Given the description of an element on the screen output the (x, y) to click on. 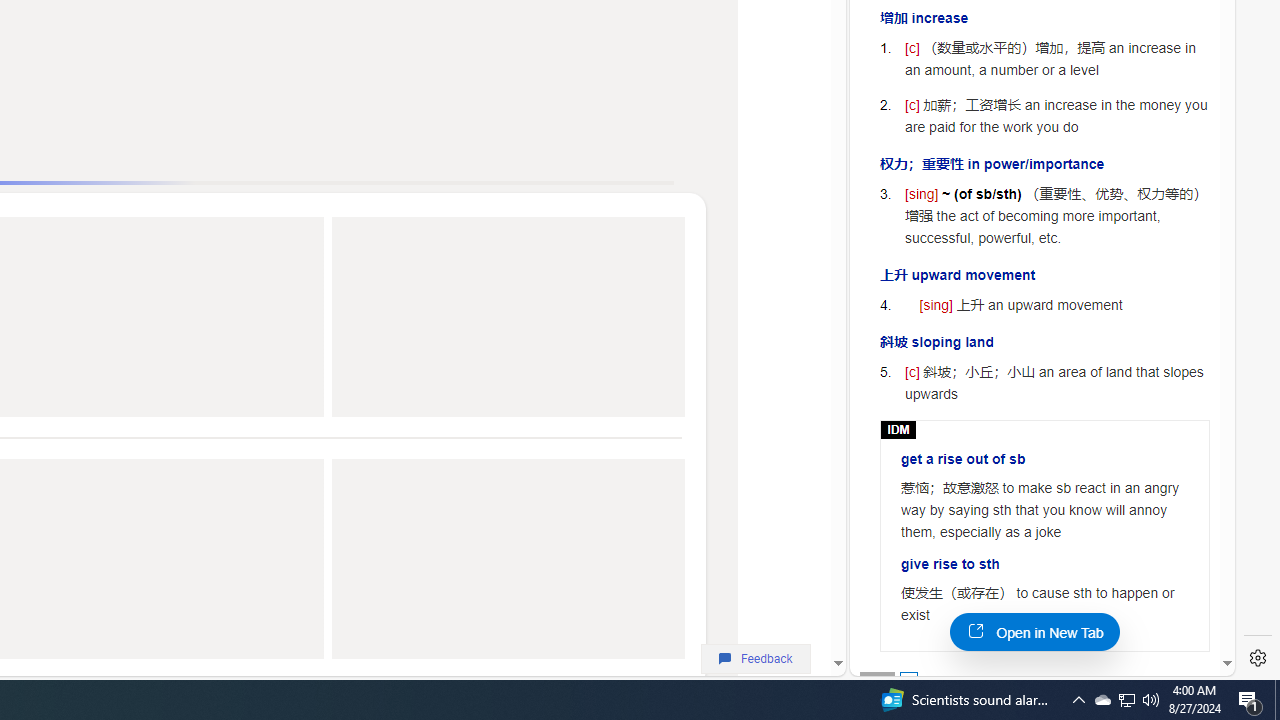
AutomationID: posbtn_1 (908, 680)
